Given the description of an element on the screen output the (x, y) to click on. 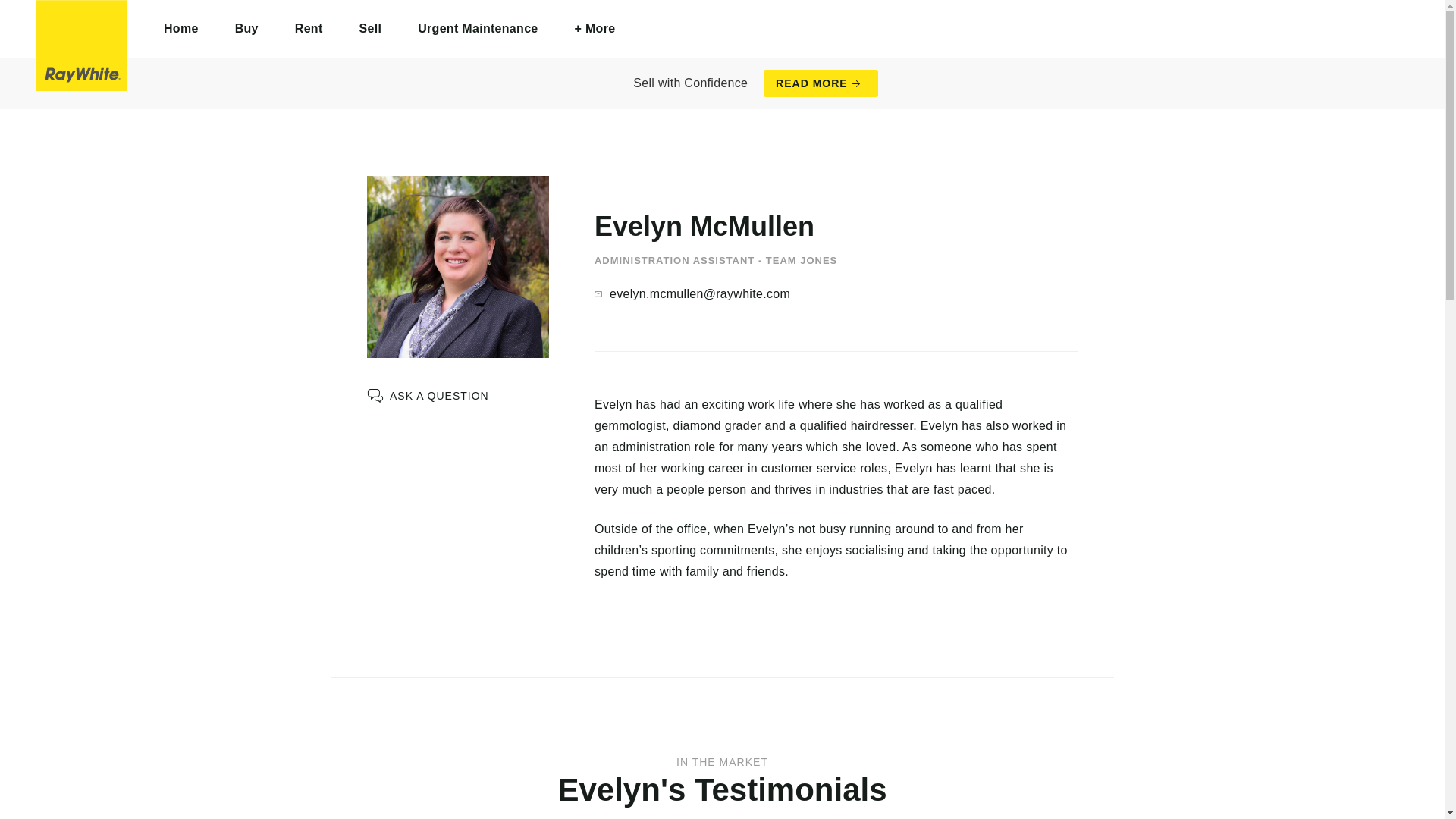
Home (180, 28)
ASK A QUESTION (427, 396)
Urgent Maintenance (477, 28)
READ MORE (819, 83)
Ray White Ferntree Gully (82, 45)
